Given the description of an element on the screen output the (x, y) to click on. 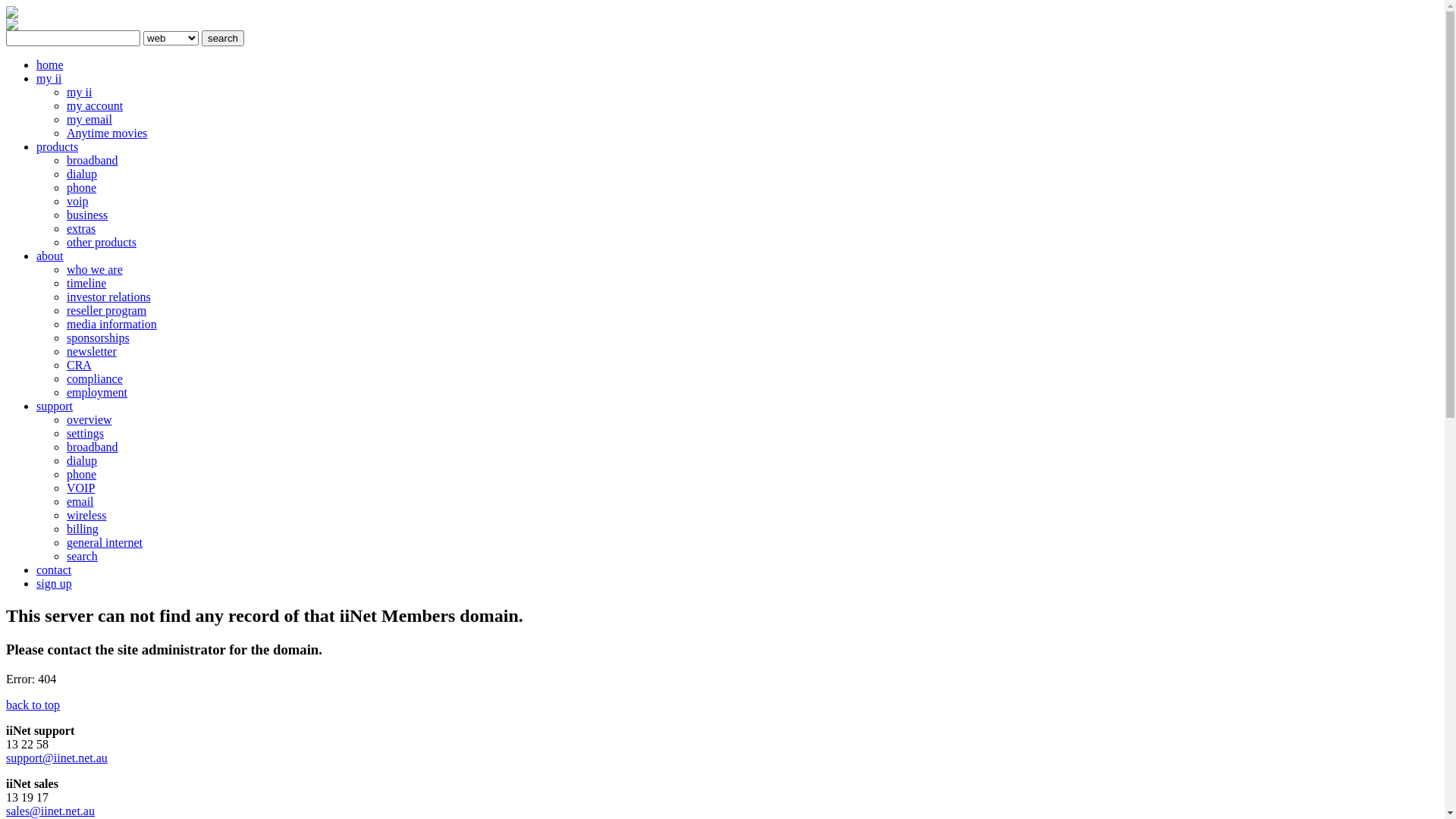
broadband Element type: text (92, 446)
search Element type: text (222, 38)
business Element type: text (86, 214)
broadband Element type: text (92, 159)
home Element type: text (49, 64)
reseller program Element type: text (106, 310)
email Element type: text (80, 501)
employment Element type: text (96, 391)
my ii Element type: text (78, 91)
newsletter Element type: text (91, 351)
general internet Element type: text (104, 542)
compliance Element type: text (94, 378)
search Element type: text (81, 555)
my account Element type: text (94, 105)
voip Element type: text (76, 200)
support@iinet.net.au Element type: text (56, 757)
other products Element type: text (101, 241)
wireless Element type: text (86, 514)
billing Element type: text (82, 528)
dialup Element type: text (81, 173)
my email Element type: text (89, 118)
Anytime movies Element type: text (106, 132)
timeline Element type: text (86, 282)
sales@iinet.net.au Element type: text (50, 810)
back to top Element type: text (32, 704)
investor relations Element type: text (108, 296)
CRA Element type: text (78, 364)
sign up Element type: text (54, 583)
my ii Element type: text (48, 78)
phone Element type: text (81, 473)
sponsorships Element type: text (97, 337)
dialup Element type: text (81, 460)
VOIP Element type: text (80, 487)
extras Element type: text (80, 228)
products Element type: text (57, 146)
who we are Element type: text (94, 269)
overview Element type: text (89, 419)
contact Element type: text (53, 569)
media information Element type: text (111, 323)
settings Element type: text (84, 432)
about Element type: text (49, 255)
phone Element type: text (81, 187)
support Element type: text (54, 405)
